Given the description of an element on the screen output the (x, y) to click on. 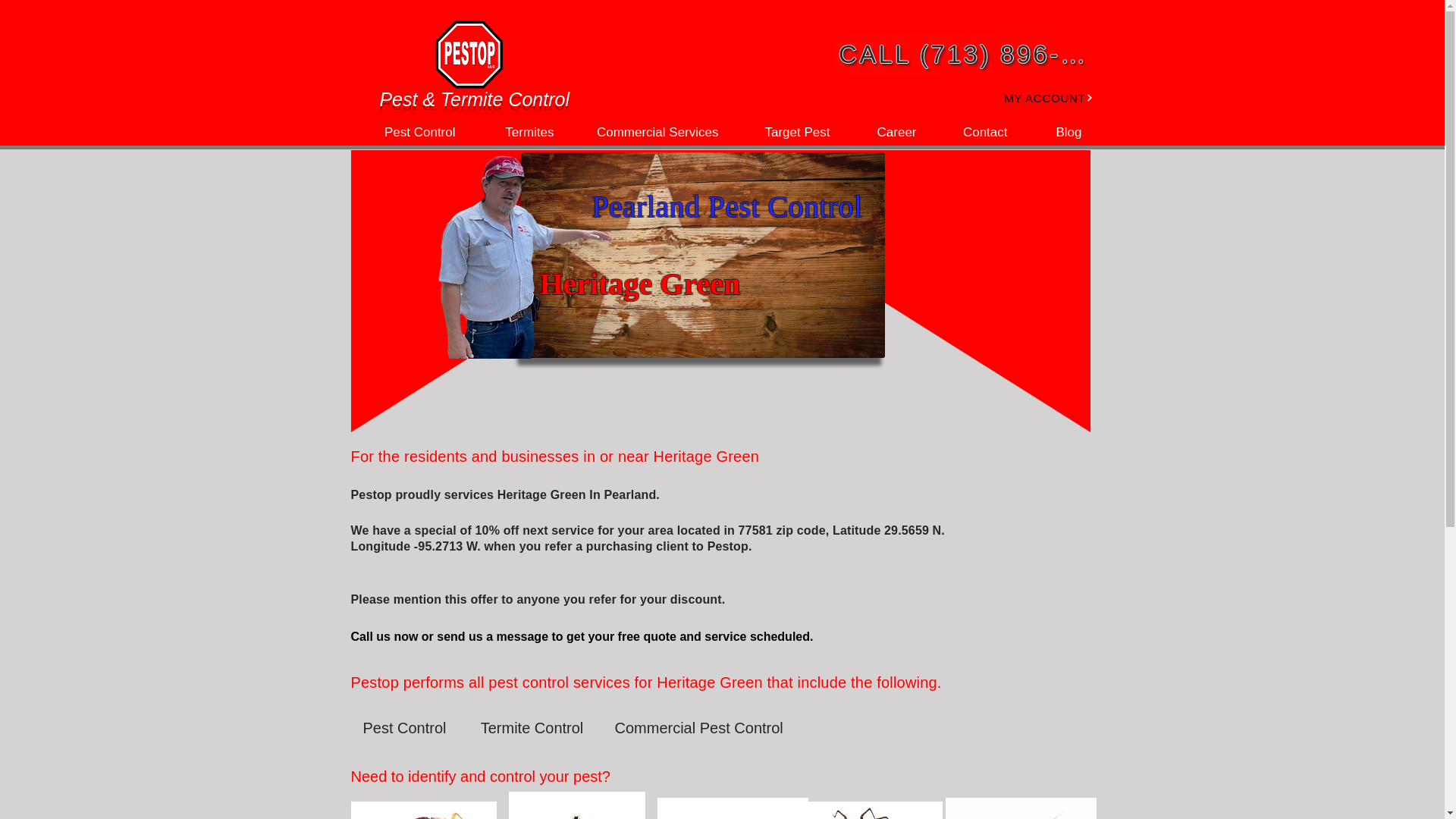
Contact (973, 131)
Target Pest (785, 131)
MY ACCOUNT (1033, 97)
Termite Control (531, 727)
Career (884, 131)
Termites (516, 131)
Pest Control (404, 727)
Blog (1056, 131)
Need to identify and control your pest? (488, 776)
Commercial Pest Control (698, 727)
Commercial Services (648, 131)
Pest Control (407, 131)
